Given the description of an element on the screen output the (x, y) to click on. 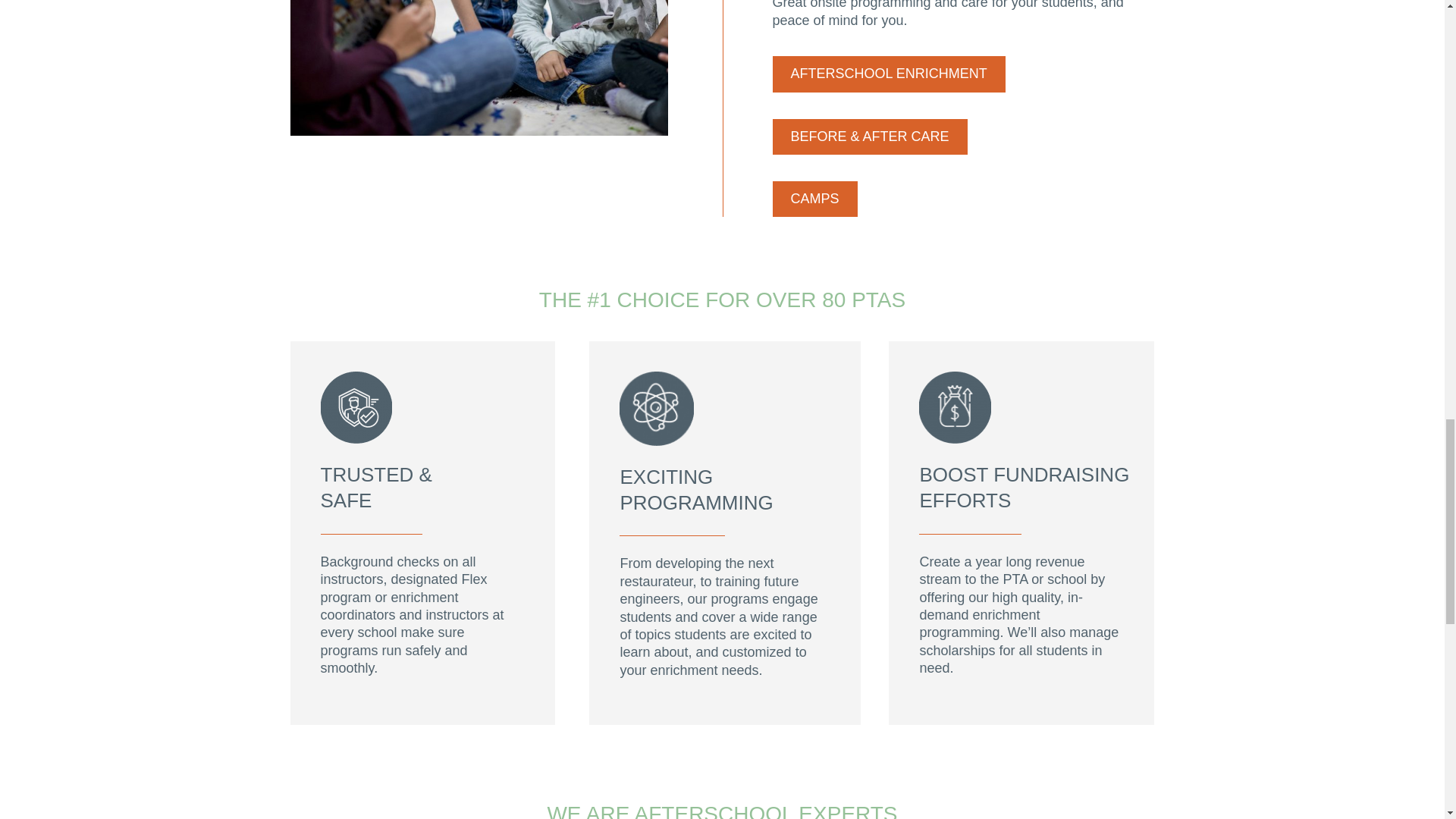
AFTERSCHOOL ENRICHMENT (887, 73)
Reading A Storybook (478, 67)
CAMPS (814, 198)
